Given the description of an element on the screen output the (x, y) to click on. 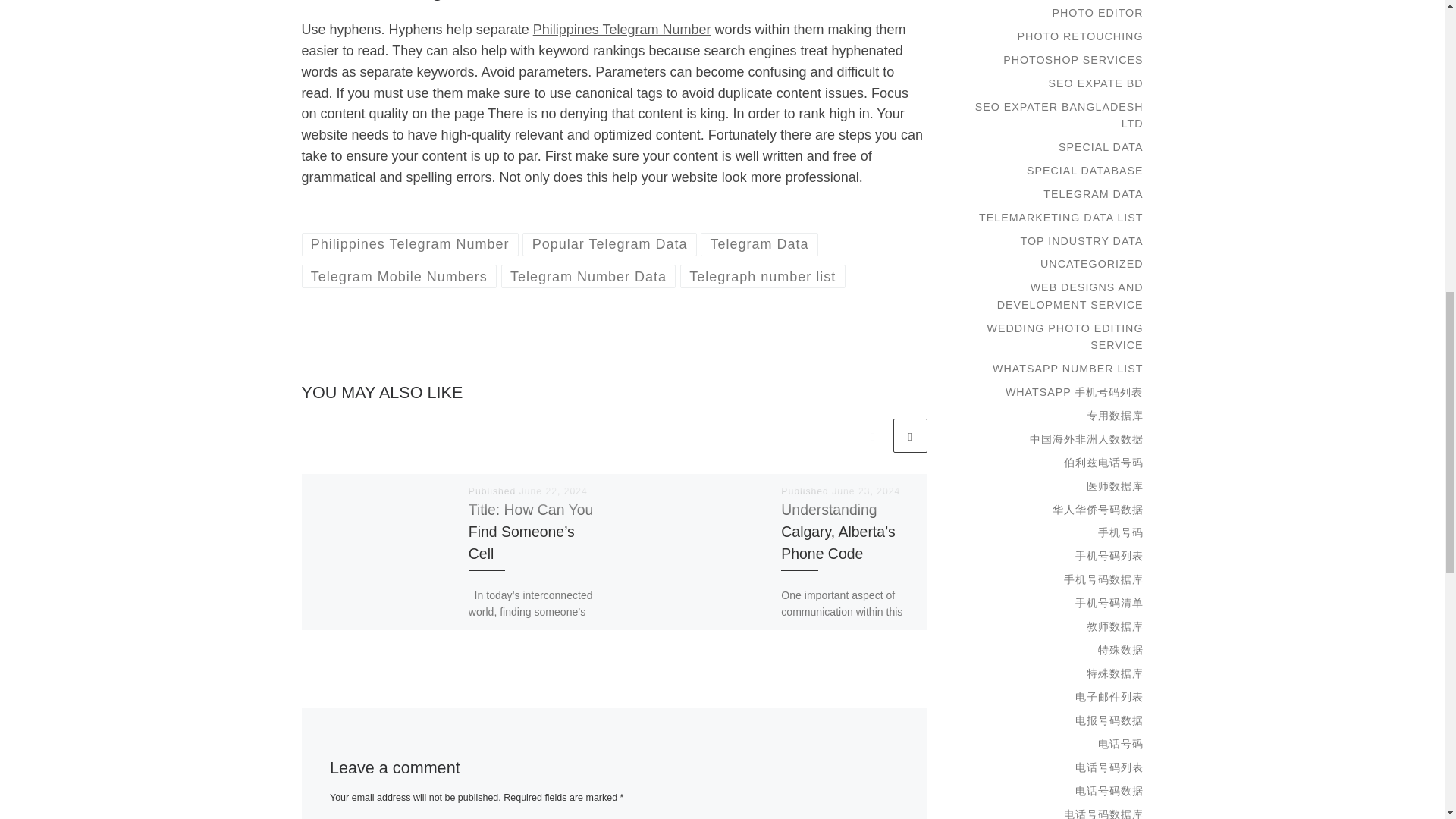
View all posts in Philippines Telegram Number (409, 244)
Philippines Telegram Number (621, 29)
Telegraph number list (762, 276)
Telegram Data (759, 244)
Previous related articles (872, 435)
Telegram Number Data (588, 276)
View all posts in Popular Telegram Data (608, 244)
View all posts in Telegram Number Data (588, 276)
June 22, 2024 (553, 491)
Telegram Mobile Numbers (399, 276)
View all posts in Telegram Data (759, 244)
Next related articles (910, 435)
June 23, 2024 (865, 491)
Philippines Telegram Number (409, 244)
View all posts in Telegram Mobile Numbers (399, 276)
